Given the description of an element on the screen output the (x, y) to click on. 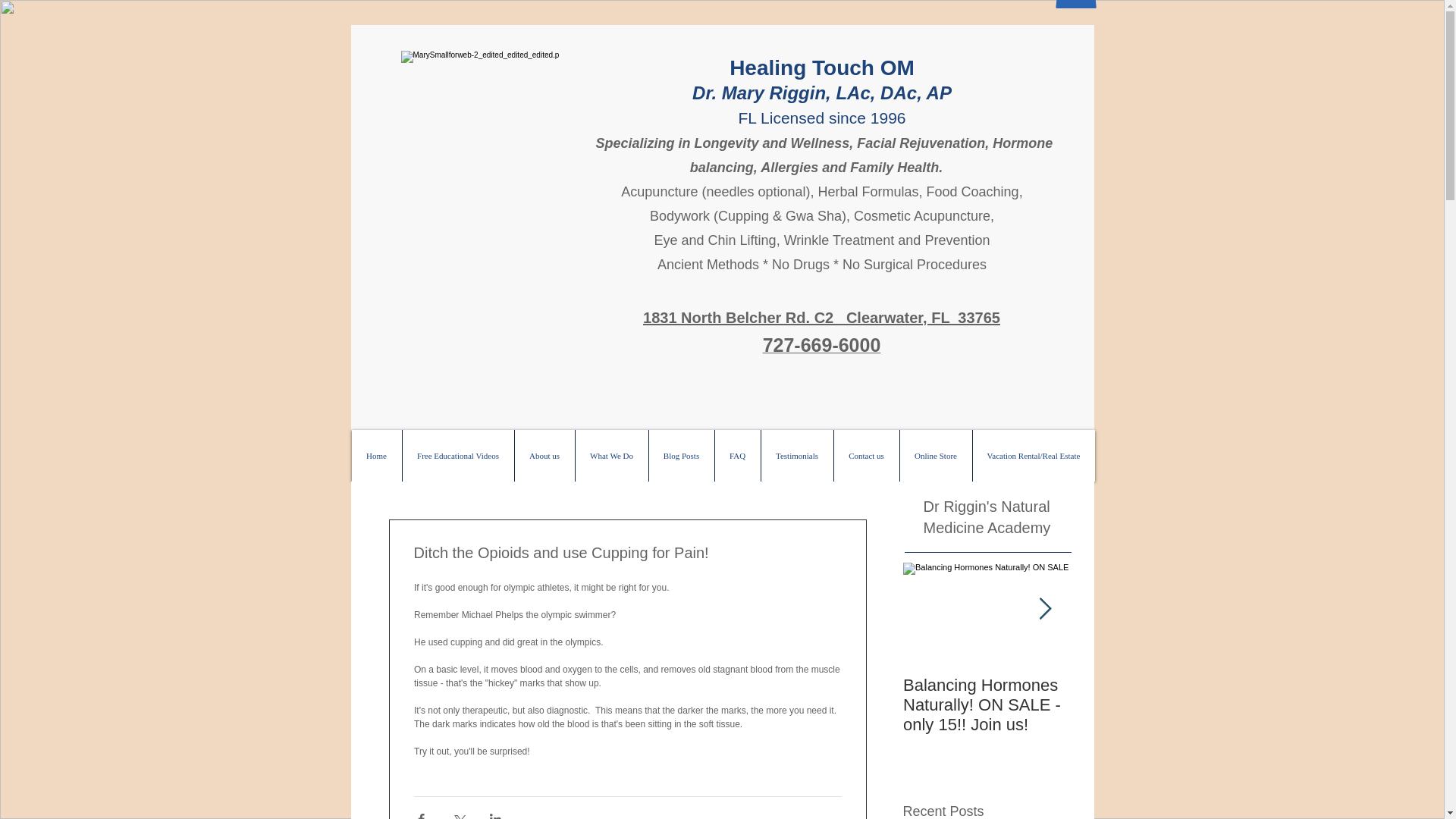
727-669-6000 (821, 348)
1831 North Belcher Rd. C2   Clearwater, FL  33765 (821, 317)
Online Store (935, 455)
Home (376, 455)
Stress and Spasms Can Cause a Heart Attack! (1152, 704)
FAQ (737, 455)
Testimonials (796, 455)
Free Educational Videos (457, 455)
What We Do (611, 455)
Contact us (865, 455)
Balancing Hormones Naturally! ON SALE - only 15!! Join us! (985, 704)
Blog Posts (680, 455)
About us (544, 455)
